Given the description of an element on the screen output the (x, y) to click on. 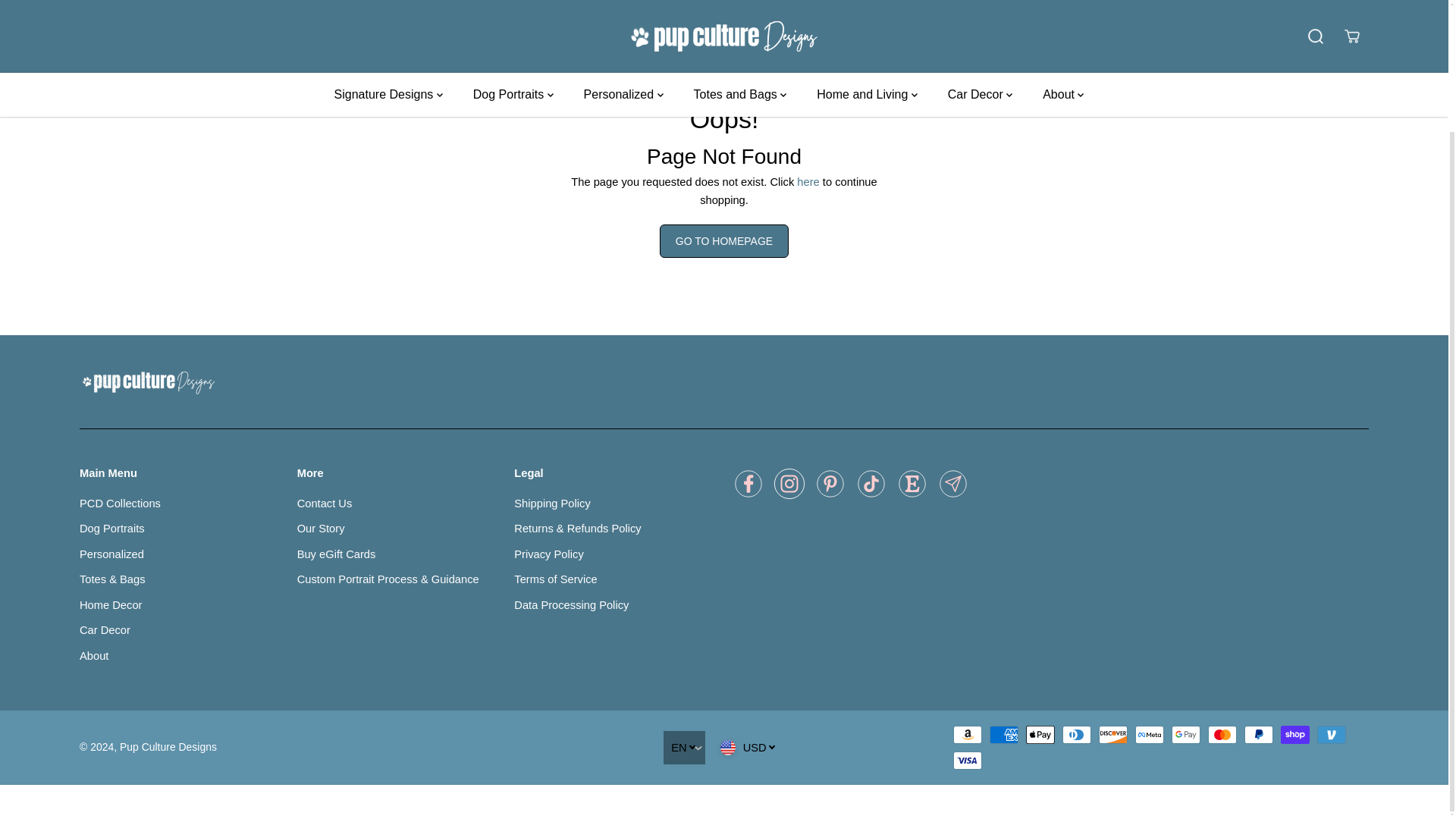
Diners Club (1076, 734)
Discover (1112, 734)
American Express (1003, 734)
Apple Pay (1040, 734)
Amazon (967, 734)
